Given the description of an element on the screen output the (x, y) to click on. 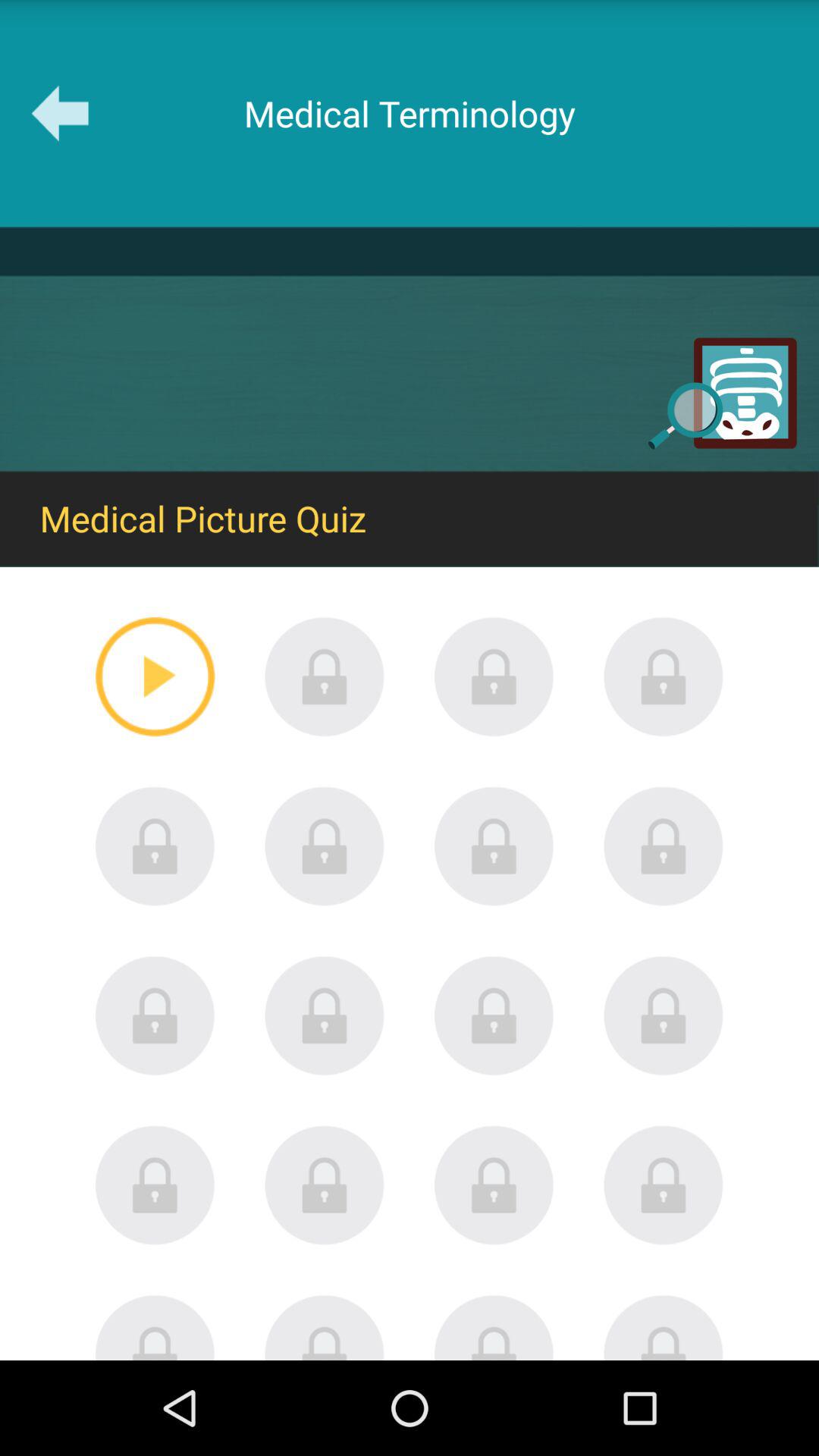
search for (154, 846)
